Given the description of an element on the screen output the (x, y) to click on. 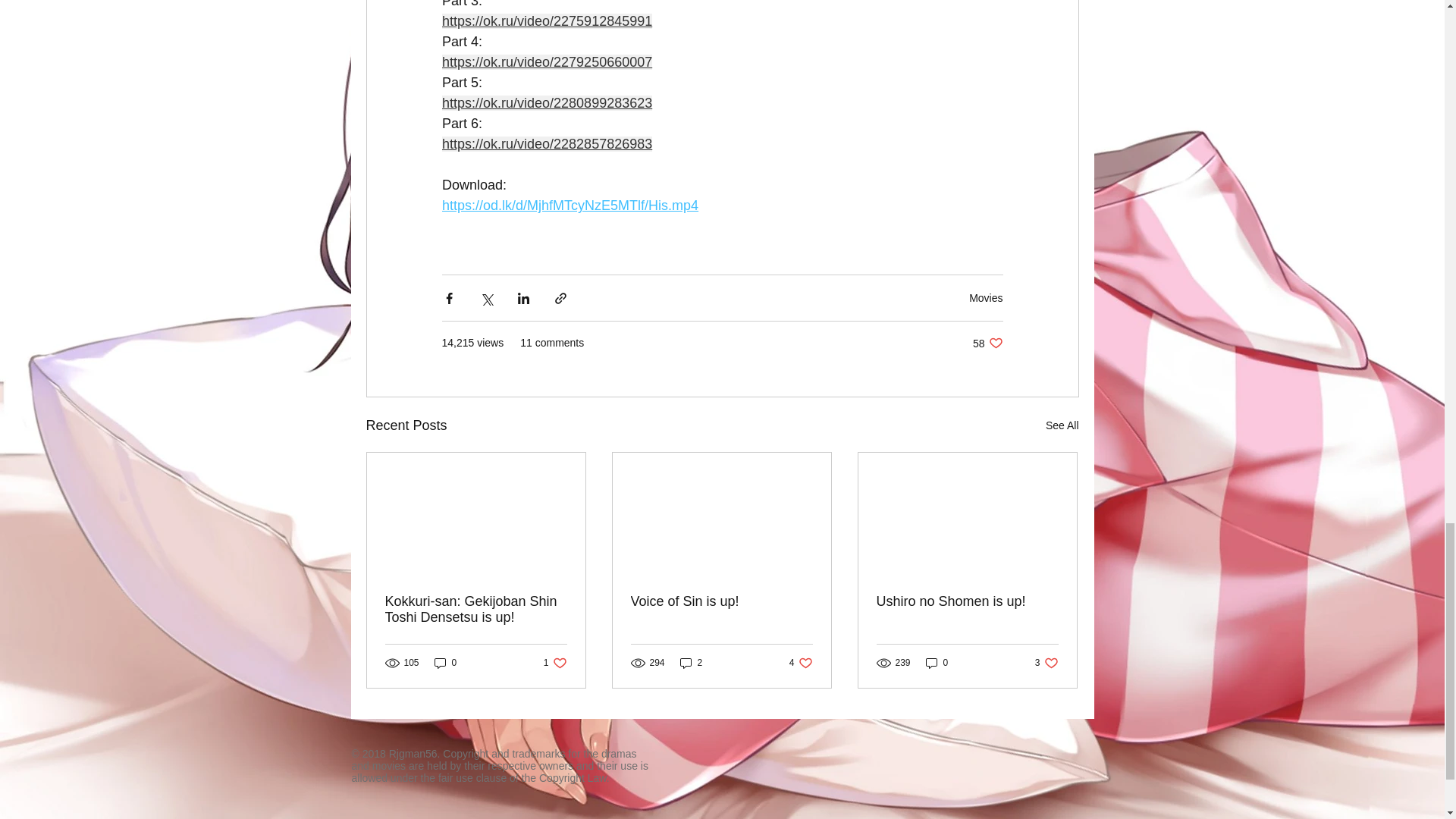
0 (555, 663)
Movies (987, 342)
Kokkuri-san: Gekijoban Shin Toshi Densetsu is up! (445, 663)
2 (1046, 663)
See All (986, 297)
Ushiro no Shomen is up! (476, 609)
Voice of Sin is up! (691, 663)
0 (1061, 425)
